Given the description of an element on the screen output the (x, y) to click on. 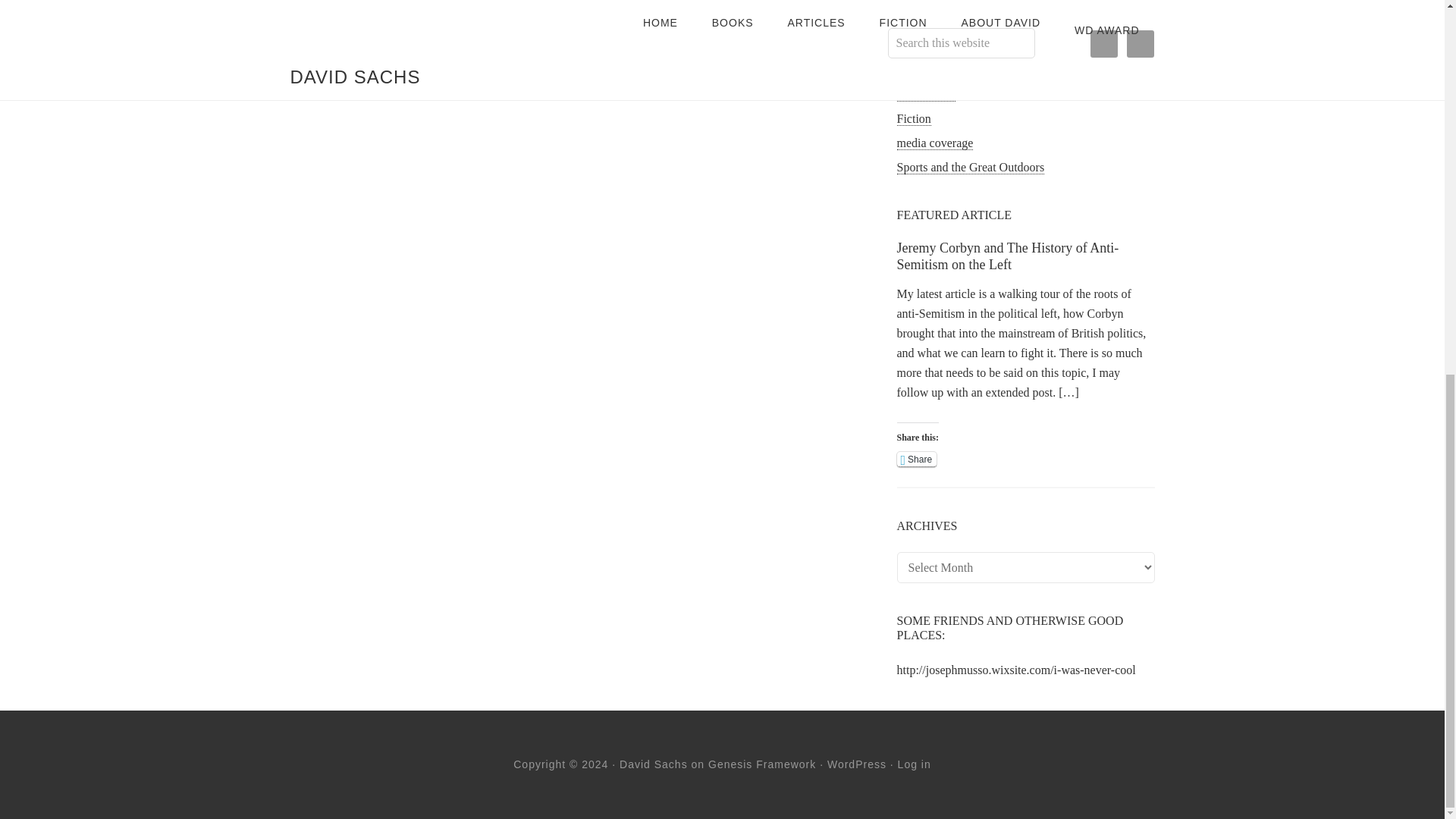
David Sachs (653, 764)
David's mix (925, 94)
Jeremy Corbyn and The History of Anti-Semitism on the Left (1007, 255)
Articles (915, 21)
WordPress (856, 764)
Fiction (913, 119)
Log in (914, 764)
Artsy (909, 46)
Genesis Framework (761, 764)
Canadian politics (938, 69)
